Given the description of an element on the screen output the (x, y) to click on. 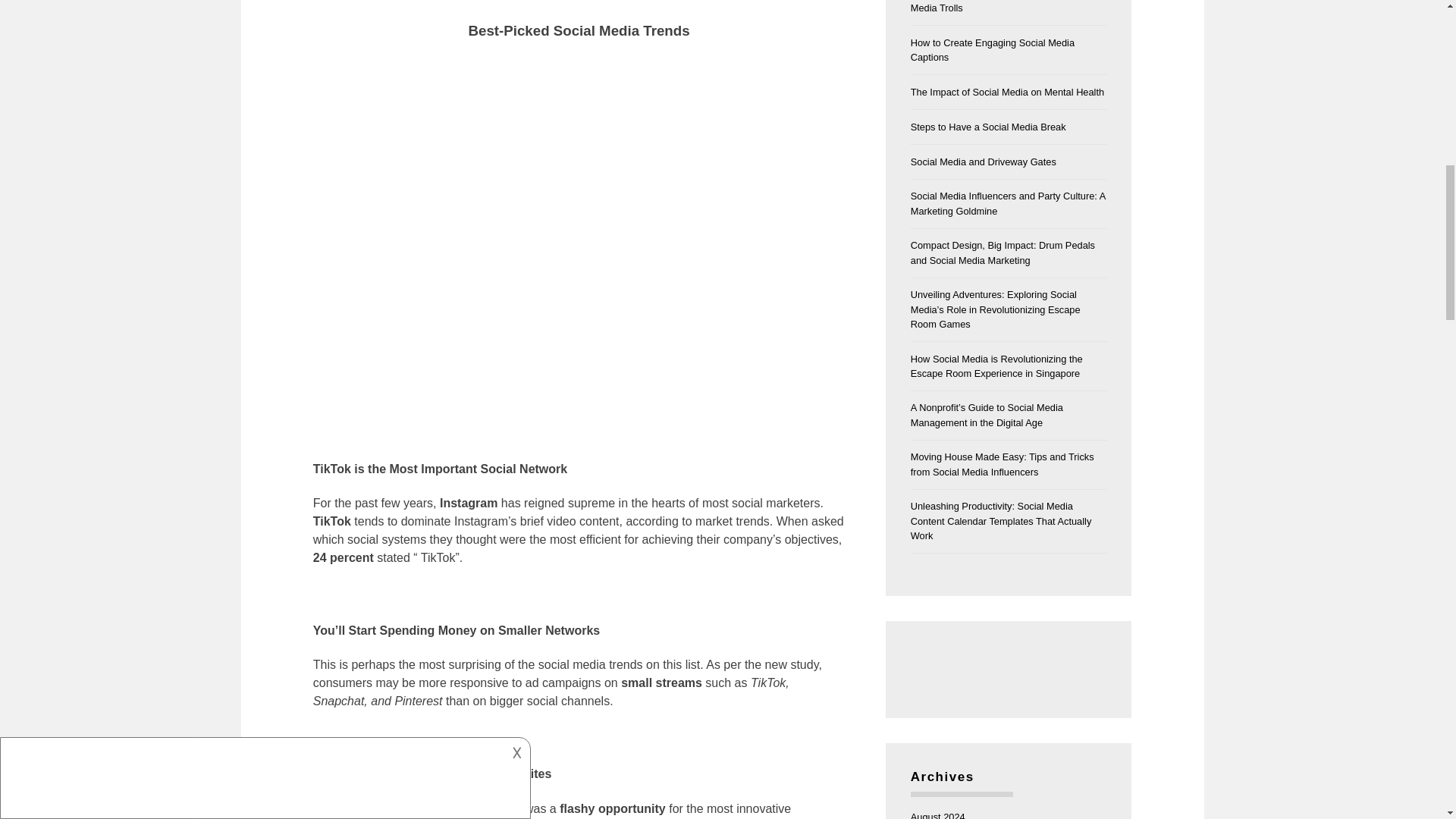
August 2024 (938, 815)
The Impact of Social Media on Mental Health (1007, 91)
Social Media and Driveway Gates (984, 161)
How to Create Engaging Social Media Captions (992, 49)
Steps to Have a Social Media Break (988, 126)
